Given the description of an element on the screen output the (x, y) to click on. 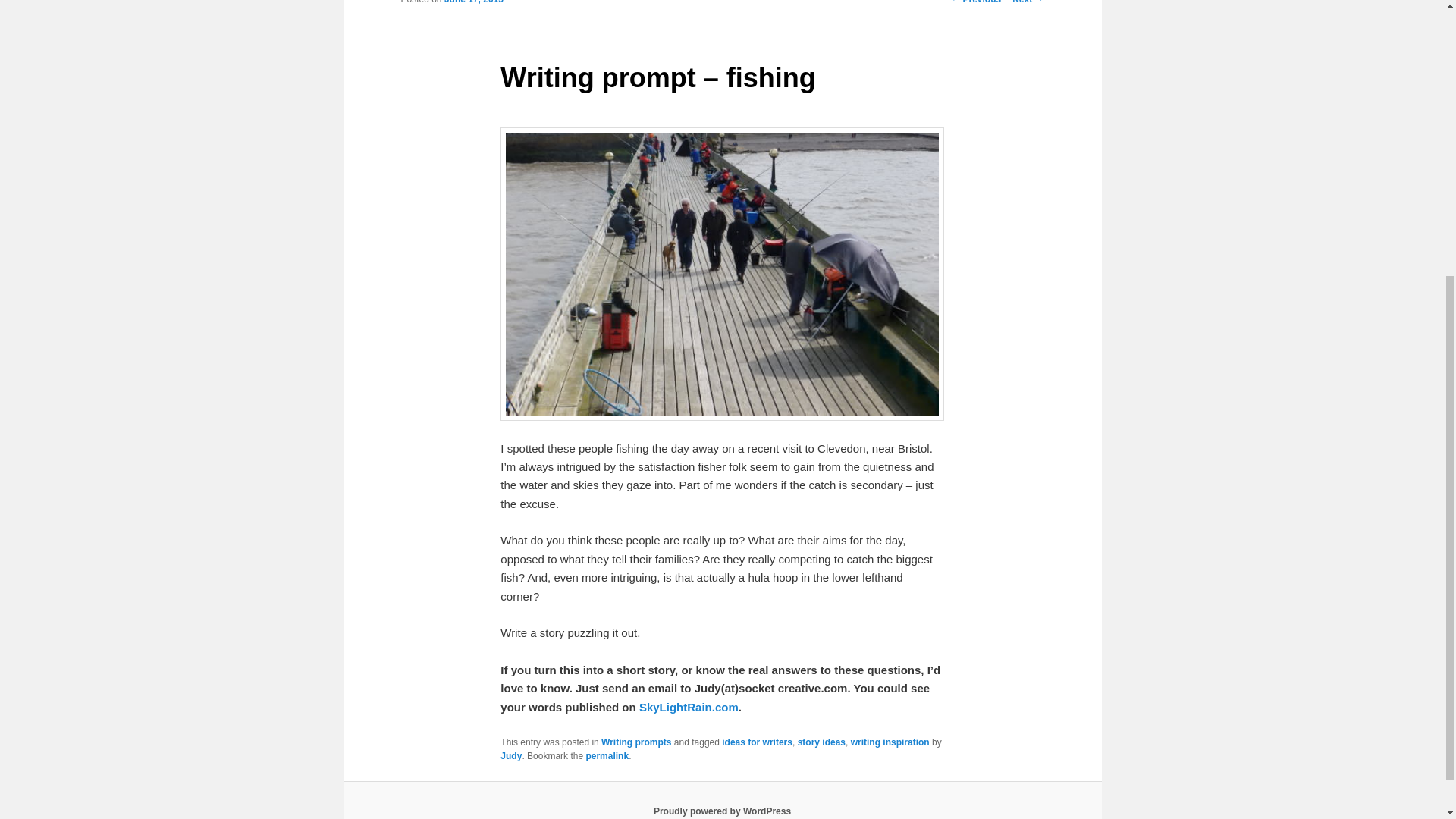
Writing prompts (636, 742)
ideas for writers (757, 742)
Semantic Personal Publishing Platform (721, 810)
June 17, 2015 (473, 2)
Judy (510, 756)
SkyLightRain.com (688, 707)
writing inspiration (890, 742)
Proudly powered by WordPress (721, 810)
permalink (606, 756)
story ideas (821, 742)
